Given the description of an element on the screen output the (x, y) to click on. 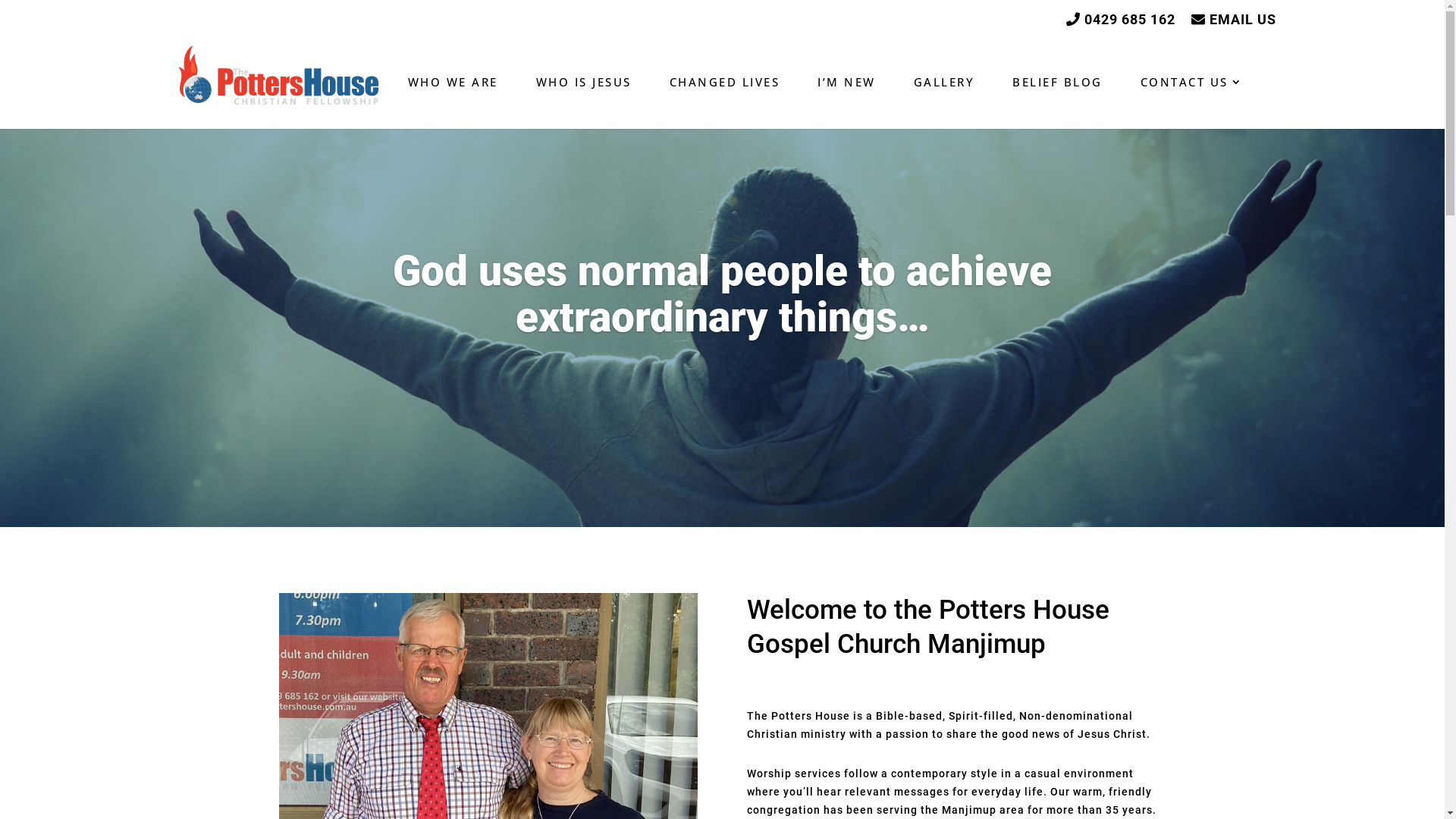
EMAIL US Element type: text (1232, 19)
WHO IS JESUS Element type: text (582, 98)
CONTACT US Element type: text (1191, 98)
WHO WE ARE Element type: text (452, 98)
BELIEF BLOG Element type: text (1057, 98)
GALLERY Element type: text (943, 98)
CHANGED LIVES Element type: text (723, 98)
0429 685 162 Element type: text (1120, 19)
